Given the description of an element on the screen output the (x, y) to click on. 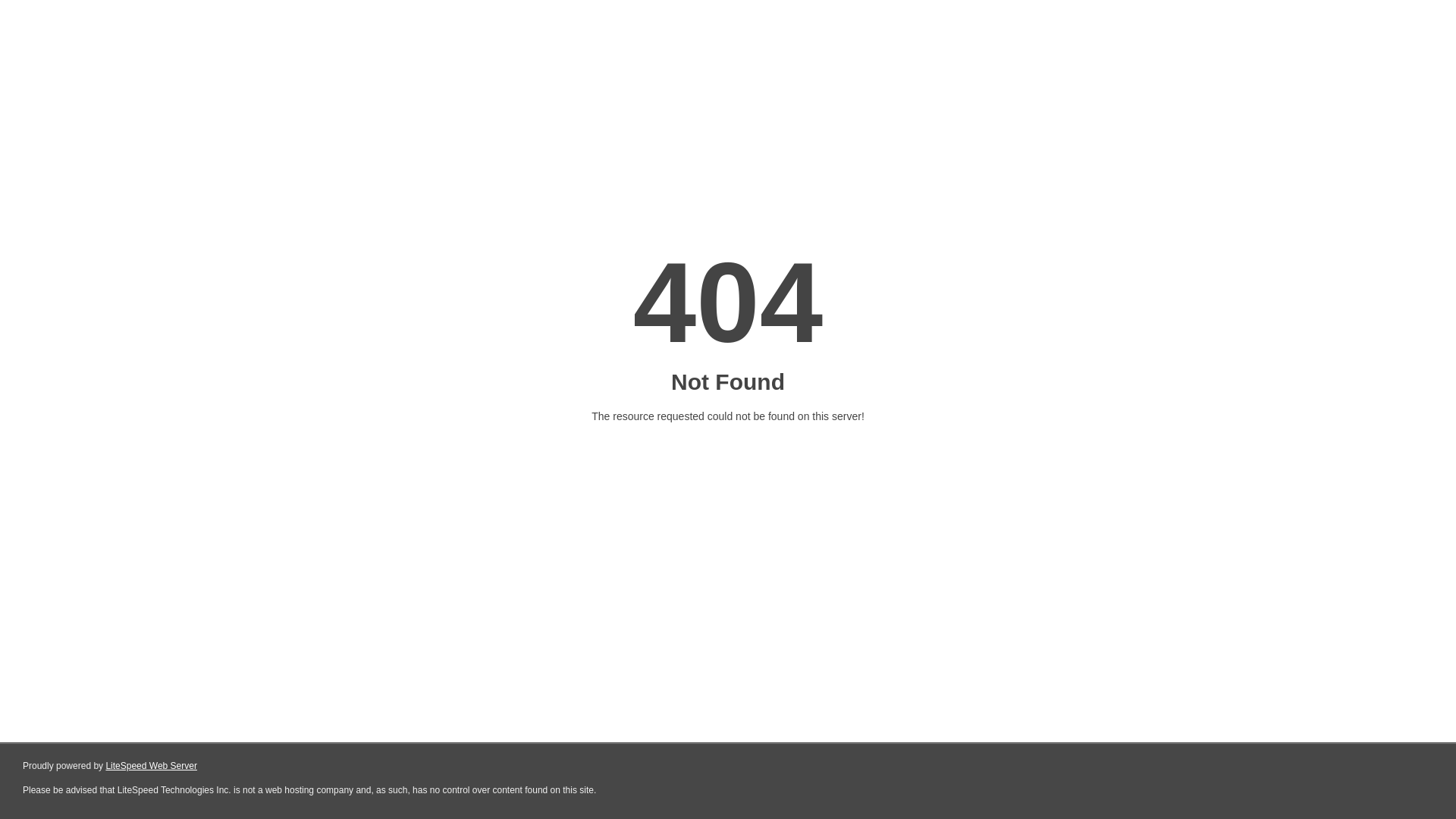
LiteSpeed Web Server Element type: text (151, 765)
